Given the description of an element on the screen output the (x, y) to click on. 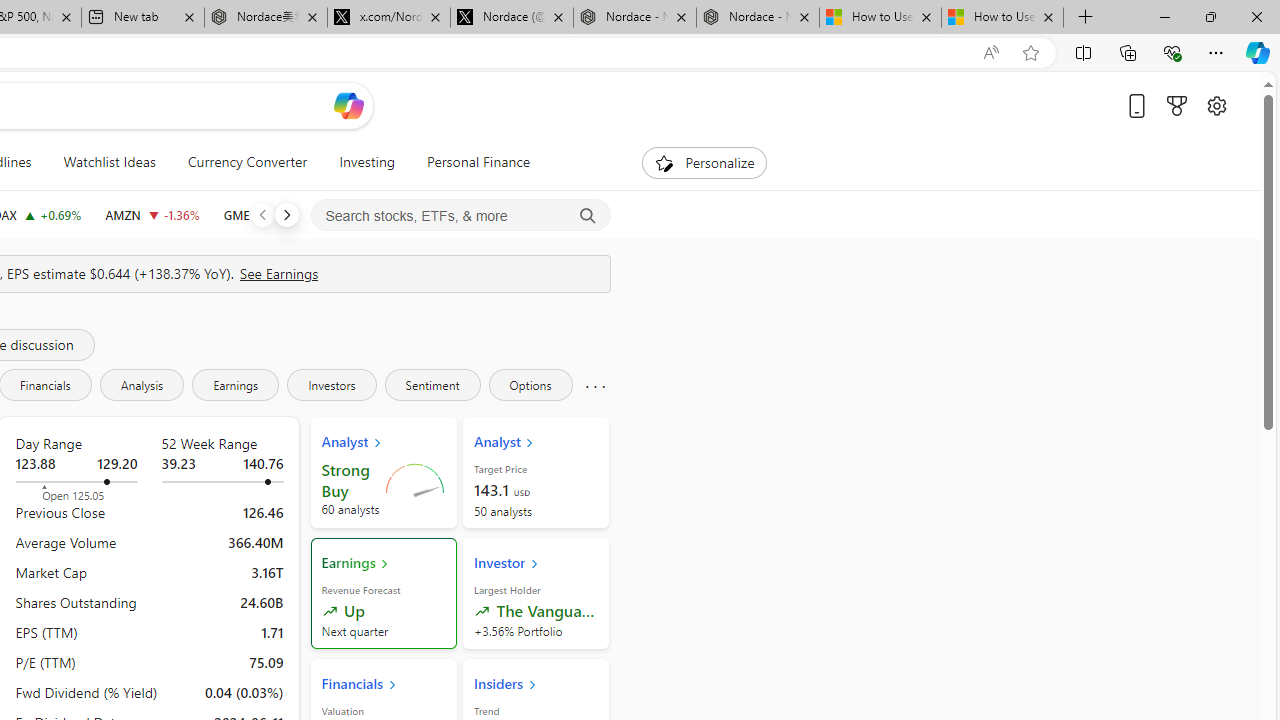
Microsoft rewards (1176, 105)
Next (286, 214)
